Given the description of an element on the screen output the (x, y) to click on. 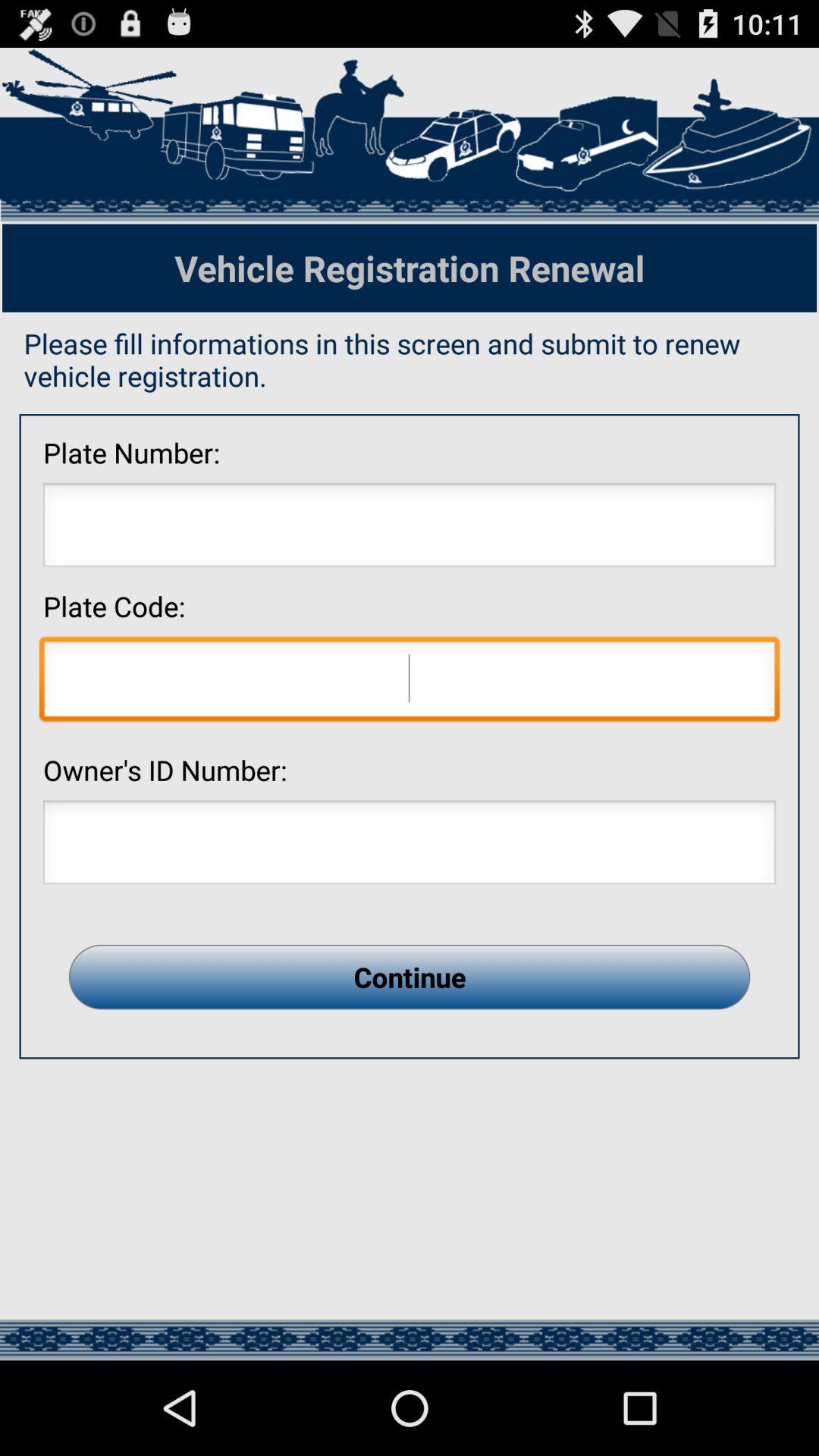
scroll to continue item (409, 976)
